Given the description of an element on the screen output the (x, y) to click on. 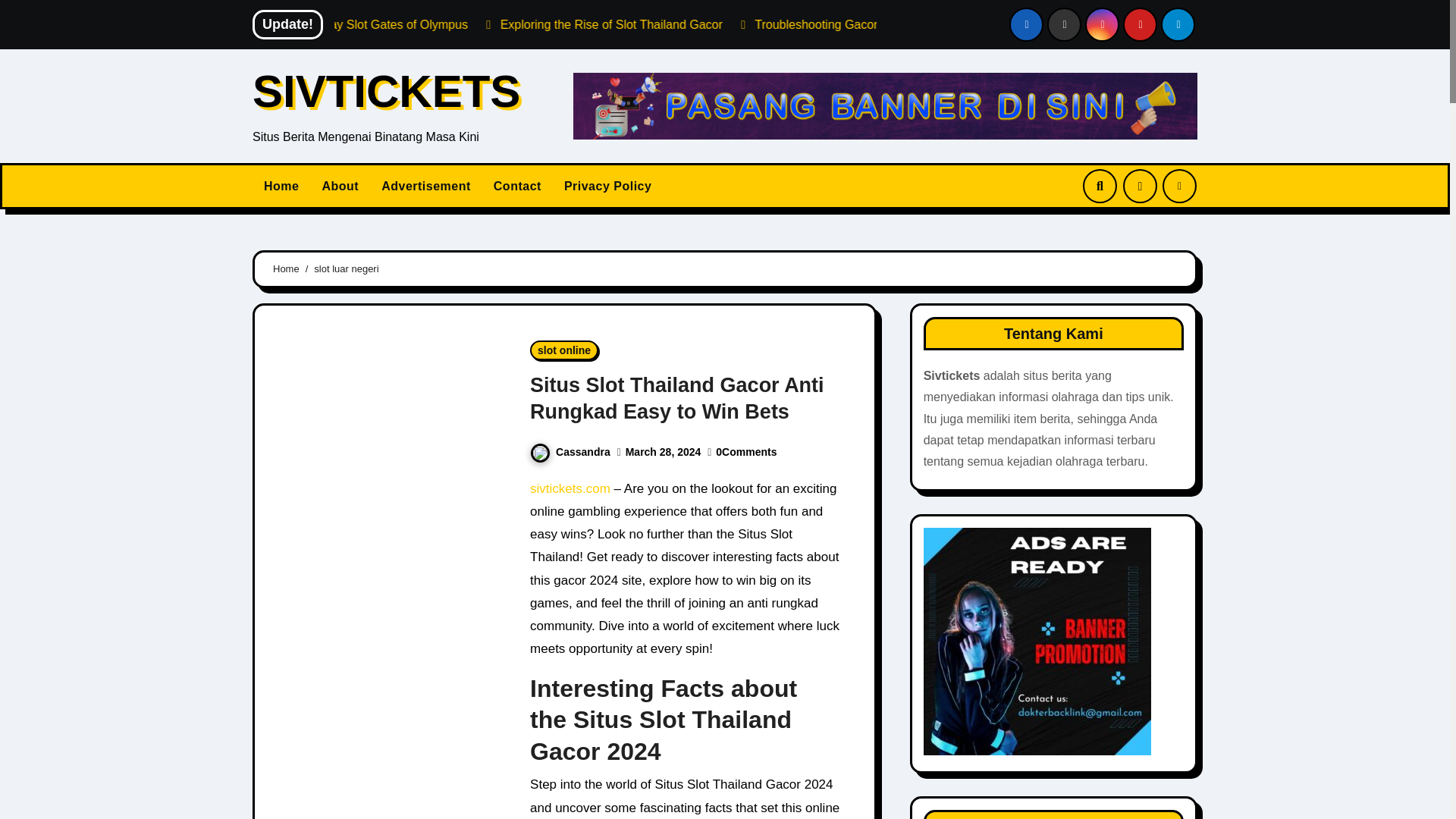
About (339, 186)
Cassandra (569, 451)
Situs Slot Thailand Gacor Anti Rungkad Easy to Win Bets (676, 398)
0Comments (746, 451)
slot online (563, 350)
March 28, 2024 (663, 451)
Home (280, 186)
Contact (517, 186)
Home (286, 268)
sivtickets.com (569, 488)
Privacy Policy (608, 186)
SIVTICKETS (385, 91)
Advertisement (425, 186)
Home (280, 186)
